Given the description of an element on the screen output the (x, y) to click on. 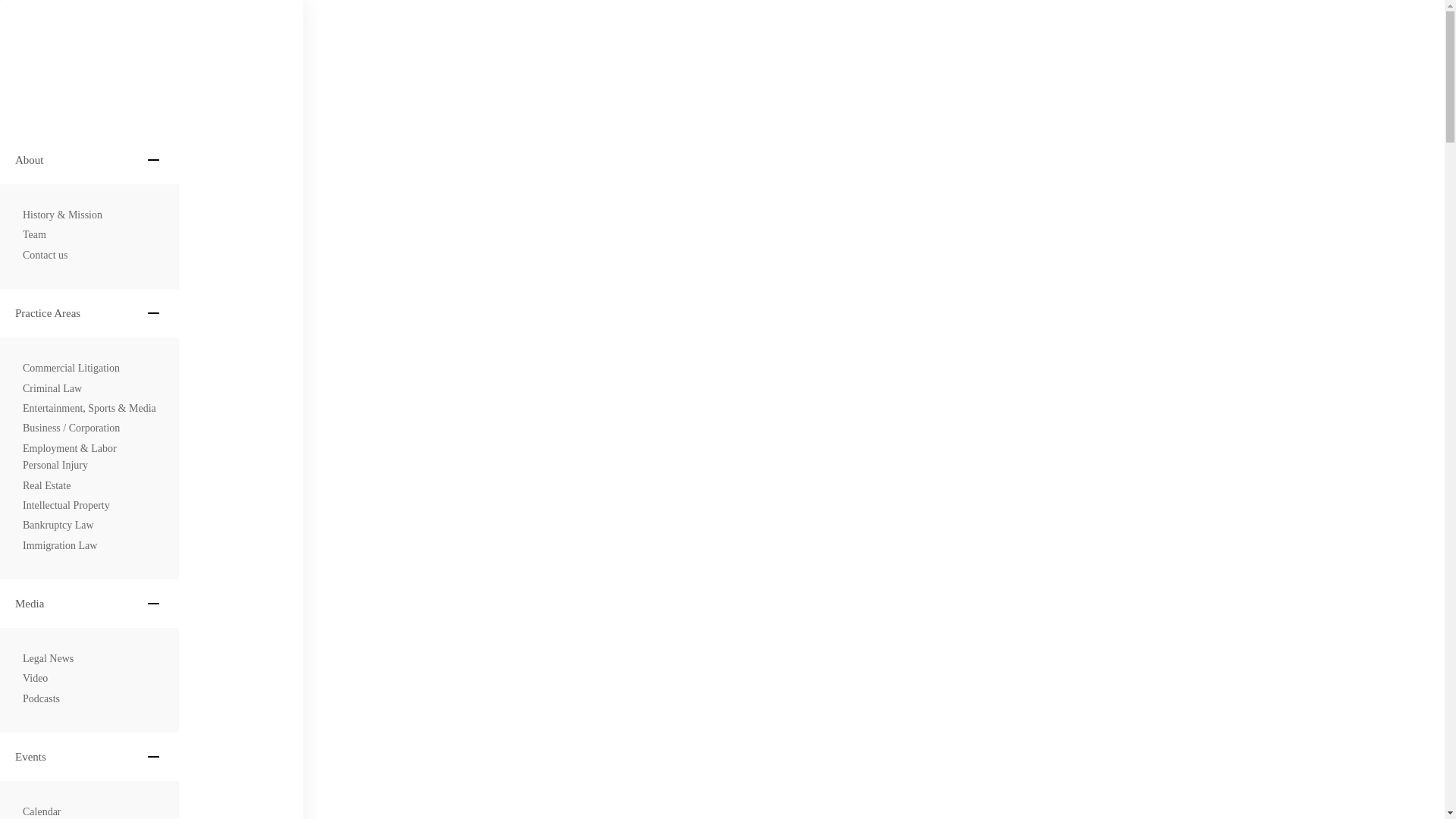
Bankruptcy Law (58, 524)
Commercial Litigation (71, 368)
Calendar (42, 811)
Team (34, 234)
Personal Injury (55, 465)
Real Estate (46, 485)
Legal News (48, 658)
Podcasts (41, 699)
Immigration Law (60, 545)
Video (35, 678)
